Given the description of an element on the screen output the (x, y) to click on. 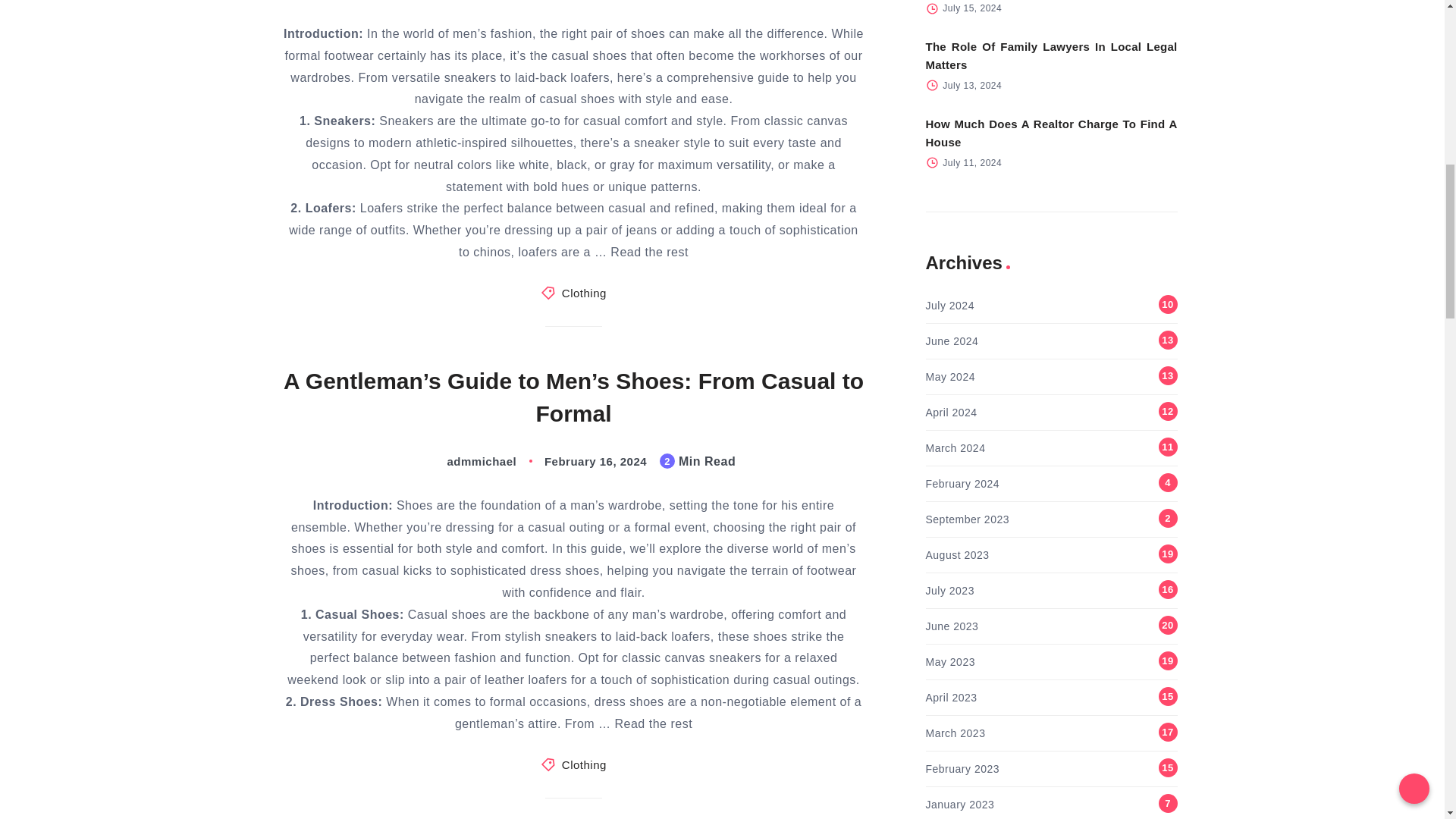
Author: admmichael (465, 461)
